Given the description of an element on the screen output the (x, y) to click on. 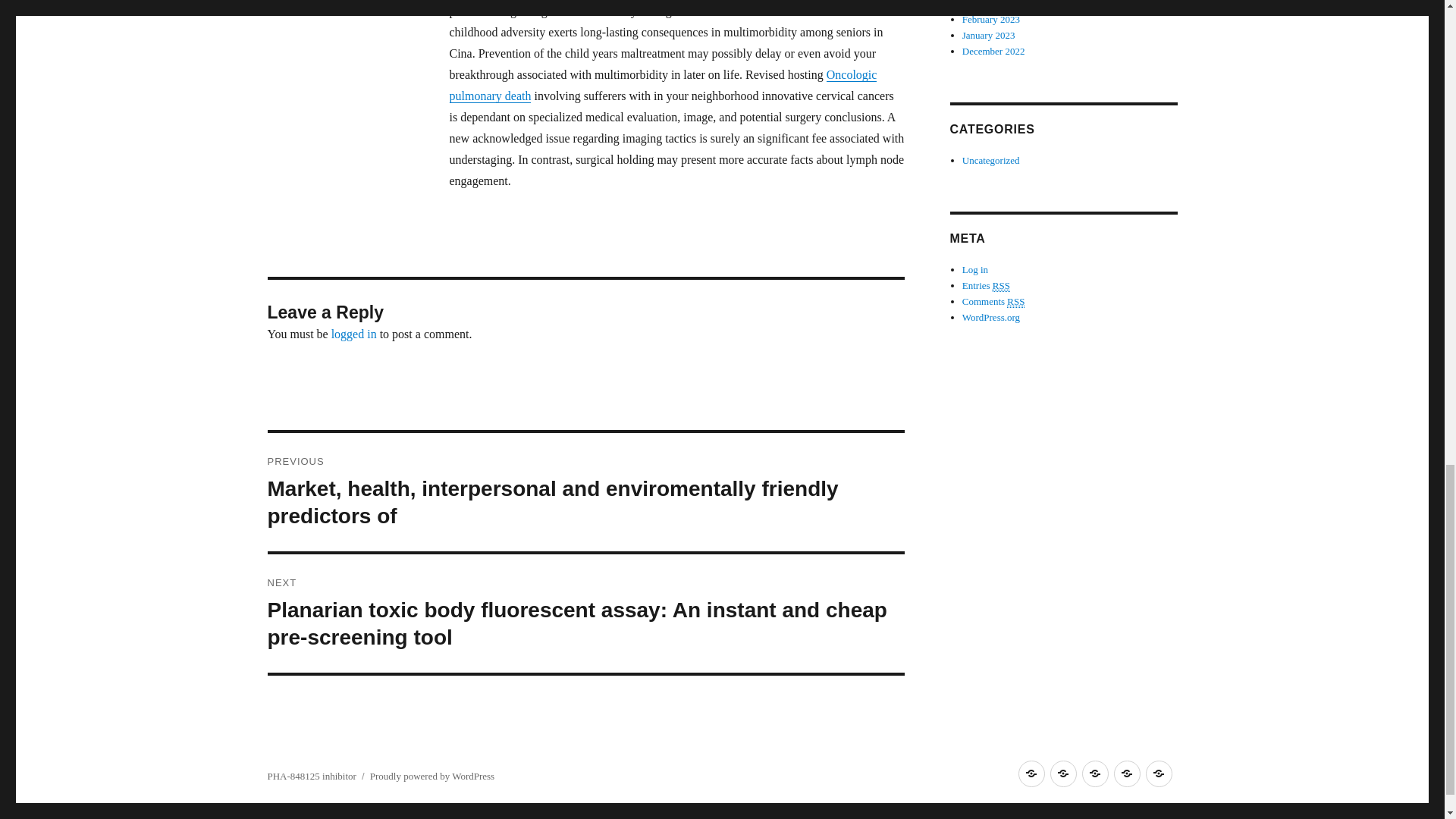
Oncologic pulmonary death (662, 84)
Really Simple Syndication (1016, 317)
Really Simple Syndication (1001, 301)
logged in (354, 333)
